Given the description of an element on the screen output the (x, y) to click on. 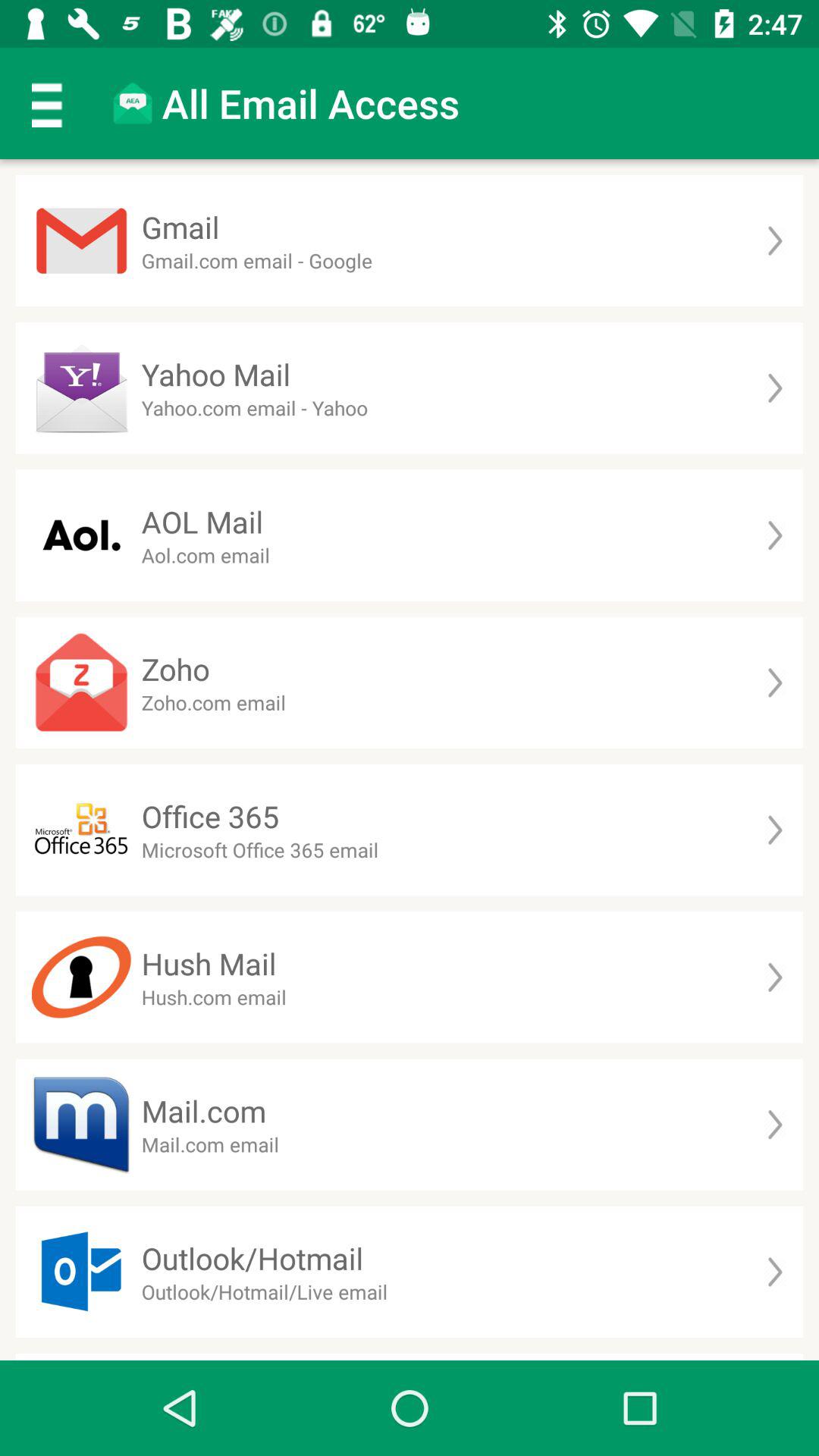
click the aol mail item (202, 521)
